Given the description of an element on the screen output the (x, y) to click on. 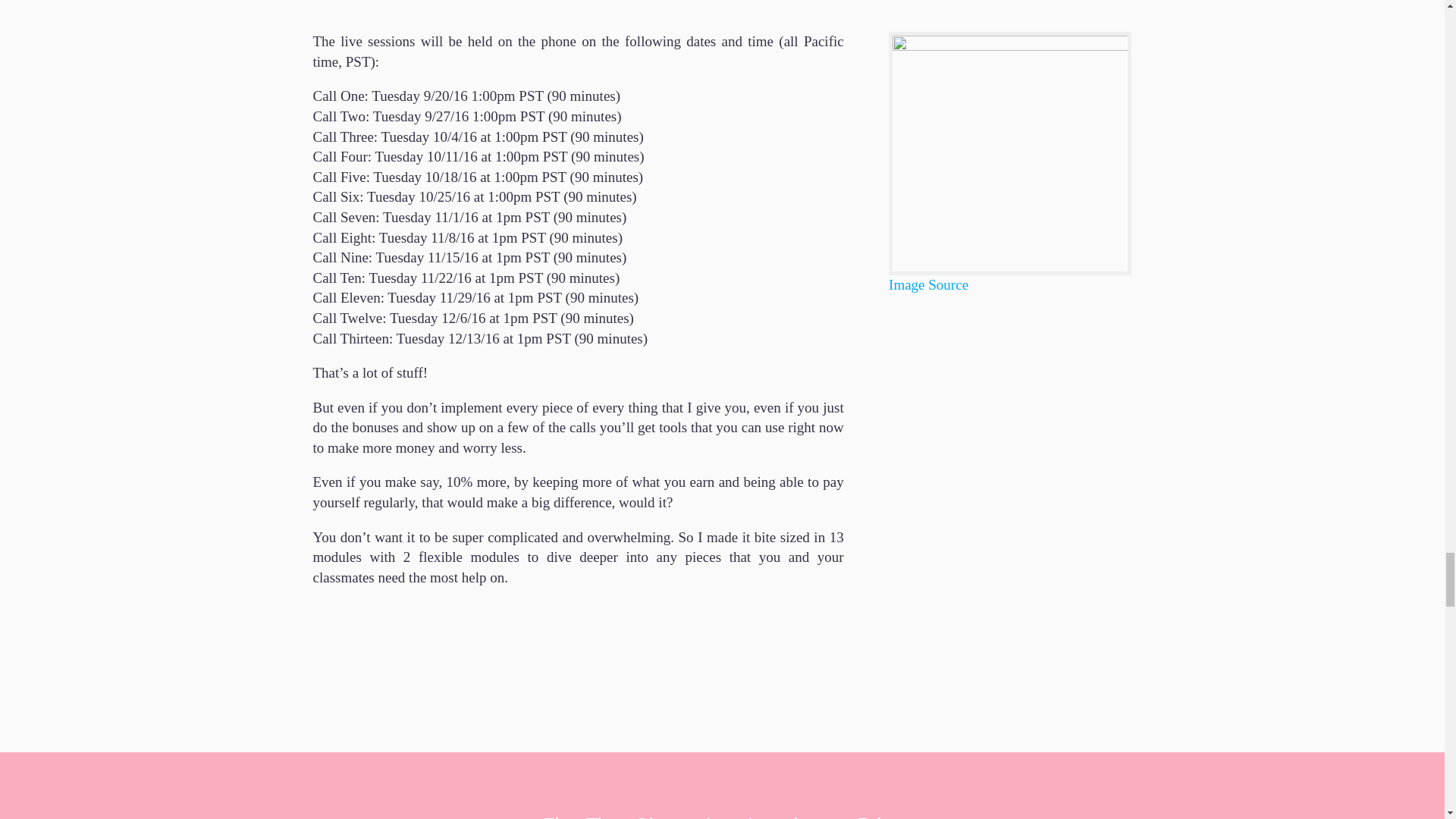
Image Source (928, 284)
Image courtesy of Freepik (928, 284)
